Given the description of an element on the screen output the (x, y) to click on. 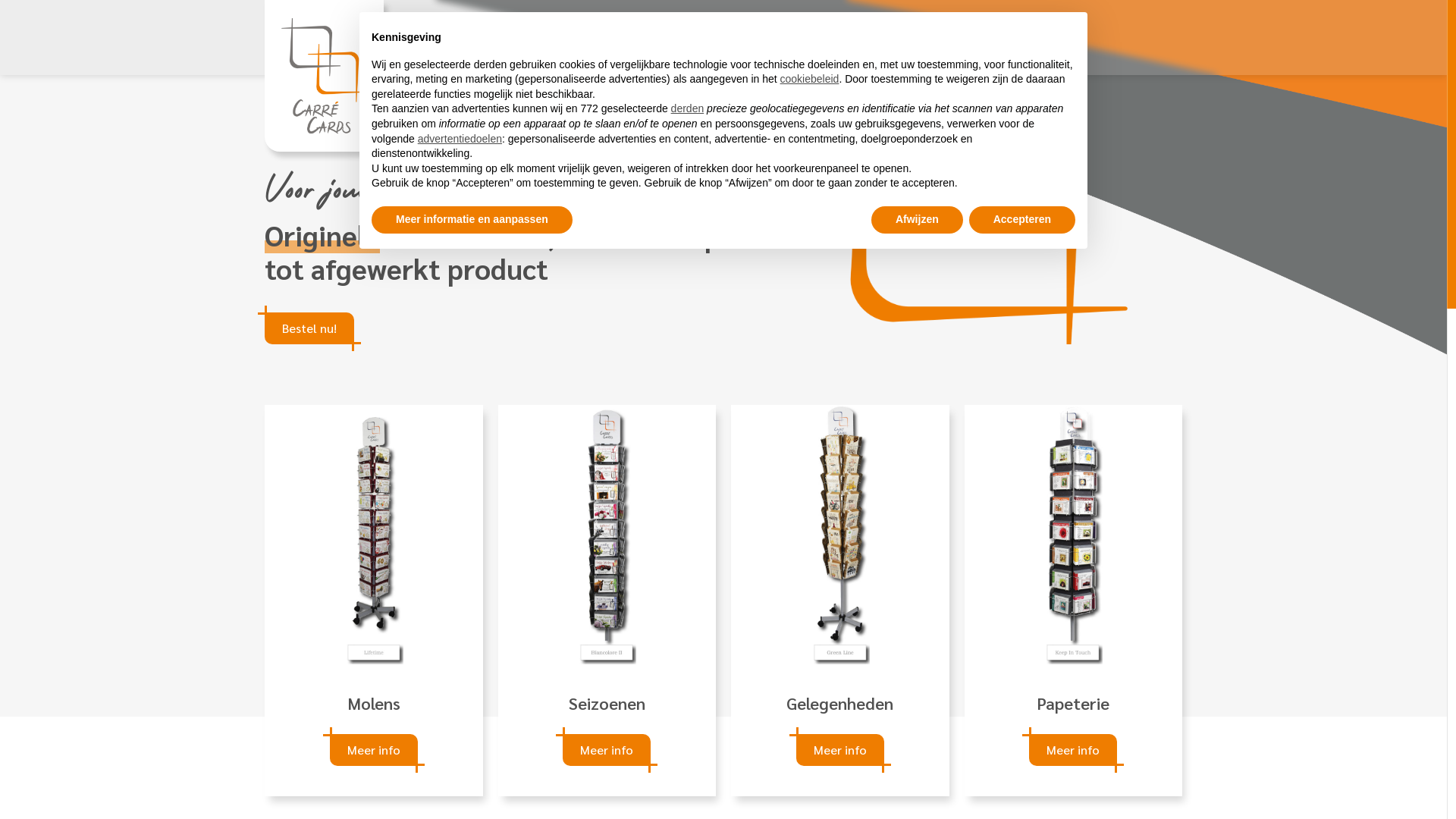
Collecties Element type: text (914, 37)
cookiebeleid Element type: text (809, 78)
Meer info Element type: text (373, 749)
Contact Element type: text (992, 37)
Over ons Element type: text (836, 37)
Meer info Element type: text (606, 749)
Meer info Element type: text (1073, 749)
Afwijzen Element type: text (917, 219)
Home Element type: text (778, 37)
Bestel nu! Element type: text (309, 328)
advertentiedoelen Element type: text (459, 138)
Meer informatie en aanpassen Element type: text (471, 219)
Accepteren Element type: text (1022, 219)
NL Element type: text (1040, 37)
Meer info Element type: text (840, 749)
derden Element type: text (687, 108)
